Given the description of an element on the screen output the (x, y) to click on. 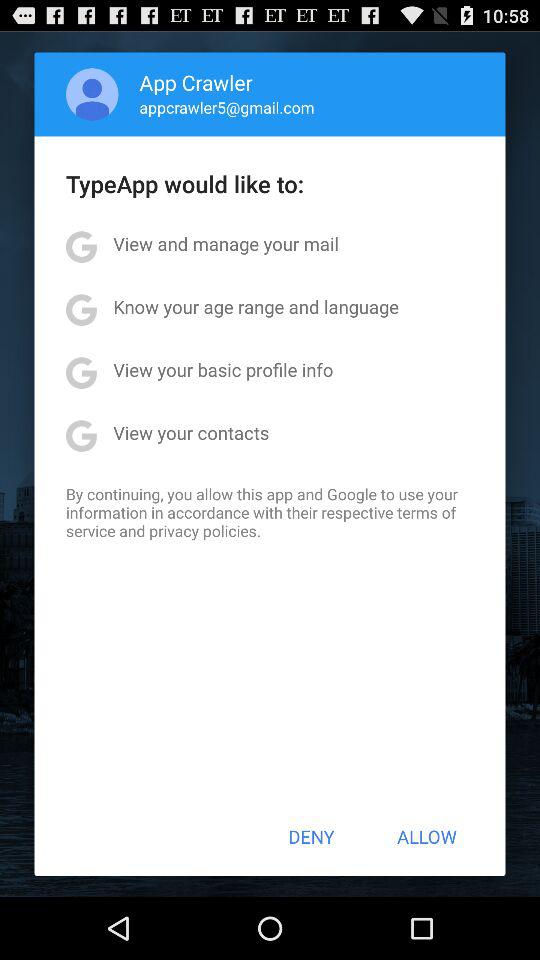
tap appcrawler5@gmail.com icon (226, 107)
